Given the description of an element on the screen output the (x, y) to click on. 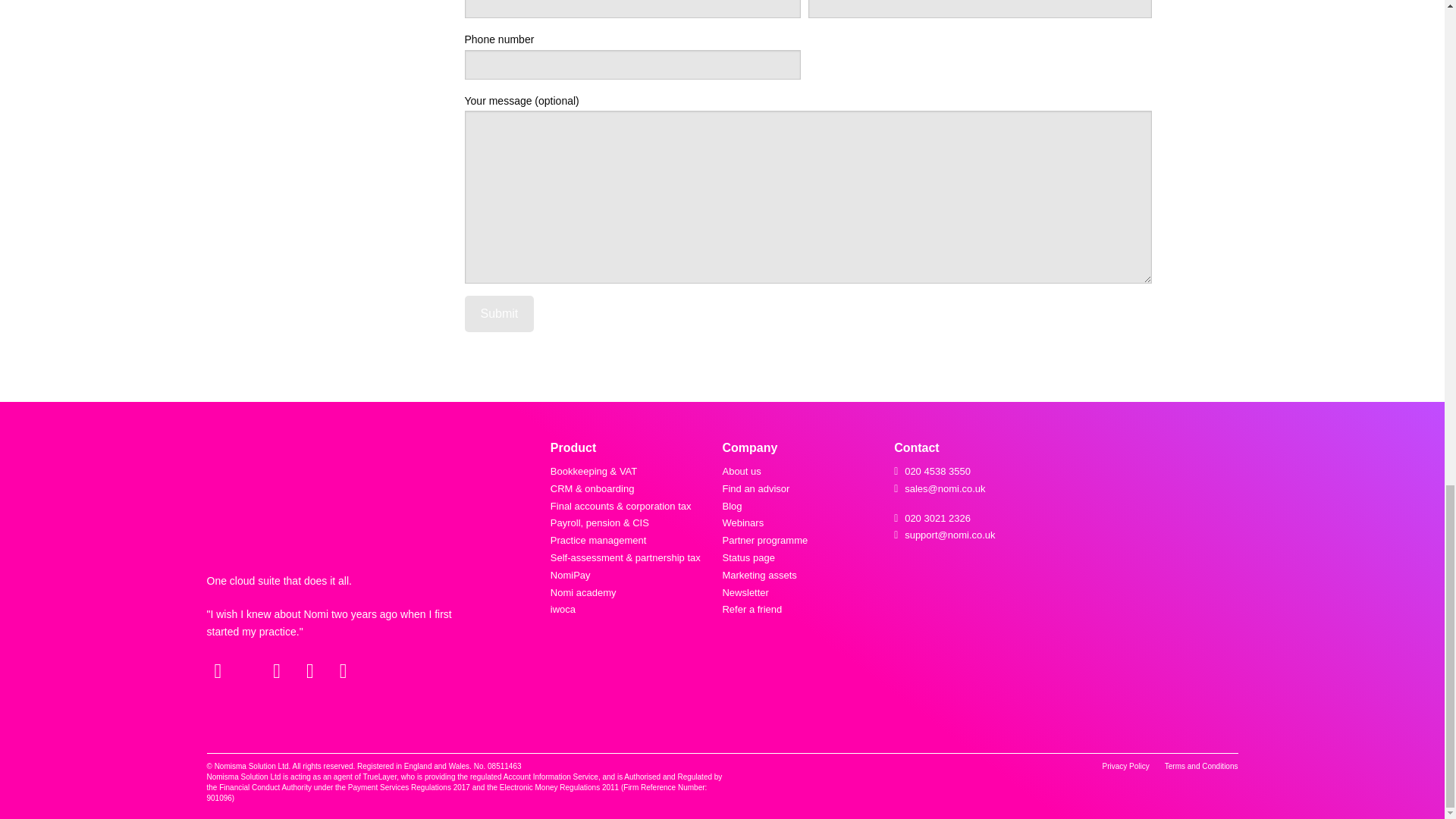
View our Privacy Policy (1126, 766)
Terms and Conditions (1201, 766)
Submit (499, 313)
Submit (499, 313)
One suite. Endless opportunities. (278, 496)
